Given the description of an element on the screen output the (x, y) to click on. 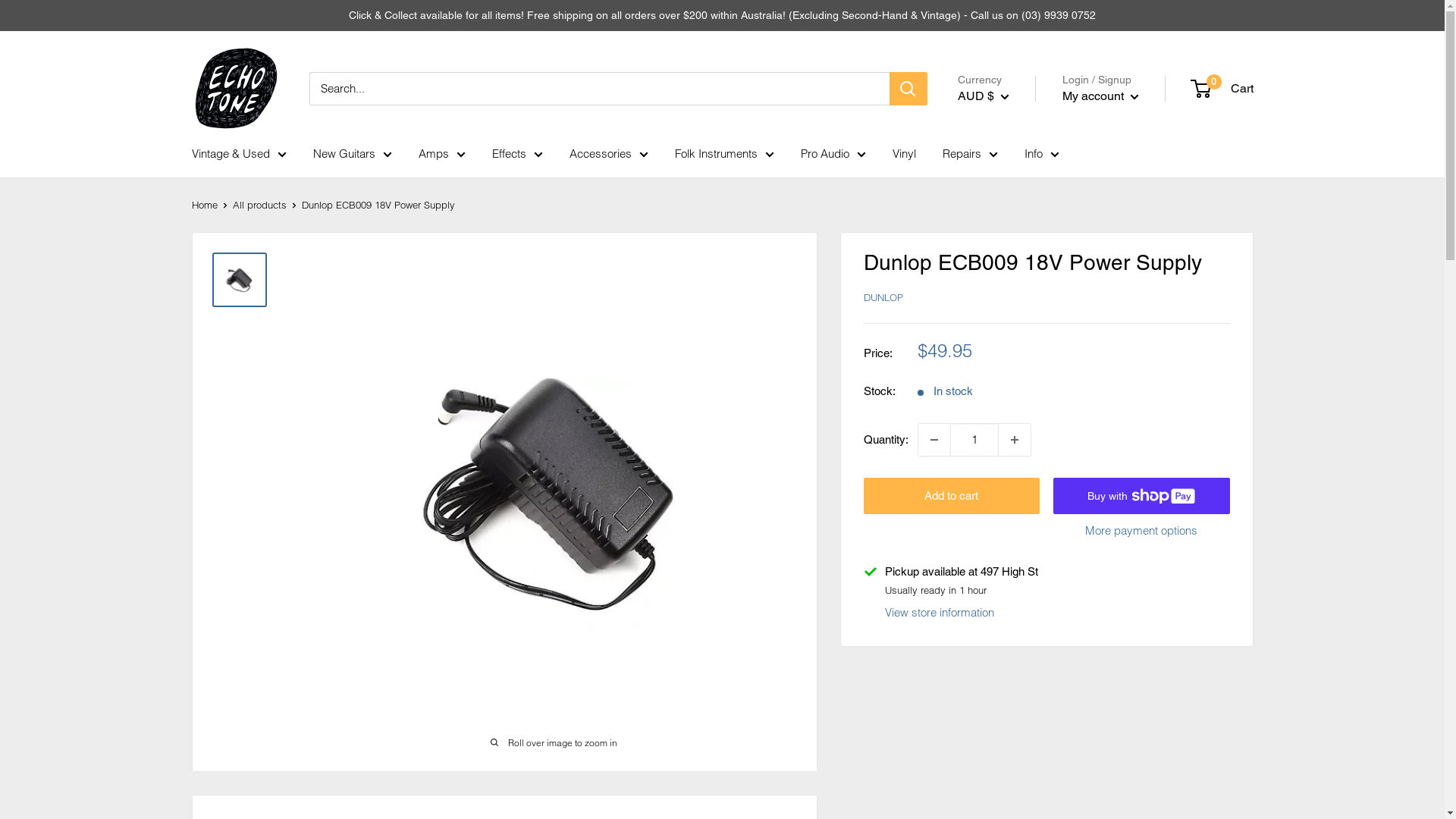
IDR Element type: text (230, 576)
INR Element type: text (230, 614)
New Guitars Element type: text (351, 153)
BSD Element type: text (230, 64)
DUNLOP Element type: text (882, 297)
Add to cart Element type: text (950, 495)
0
Cart Element type: text (1222, 88)
CHF Element type: text (230, 158)
CRC Element type: text (230, 196)
HNL Element type: text (230, 538)
CAD Element type: text (1004, 658)
BOB Element type: text (1004, 570)
EGP Element type: text (230, 330)
BND Element type: text (1004, 548)
KYD Element type: text (230, 786)
FKP Element type: text (230, 406)
CZK Element type: text (1004, 789)
Decrease quantity by 1 Element type: hover (933, 439)
KGS Element type: text (230, 710)
BDT Element type: text (1004, 482)
KMF Element type: text (230, 748)
AUD $ Element type: text (982, 95)
CDF Element type: text (230, 139)
Pro Audio Element type: text (833, 153)
More payment options Element type: text (1141, 530)
BZD Element type: text (230, 101)
ANG Element type: text (1004, 351)
Folk Instruments Element type: text (724, 153)
BSD Element type: text (1004, 592)
EUR Element type: text (230, 368)
GMD Element type: text (230, 444)
DJF Element type: text (230, 254)
BGN Element type: text (1004, 504)
BZD Element type: text (1004, 636)
CVE Element type: text (230, 216)
Accessories Element type: text (607, 153)
BND Element type: text (230, 26)
AED Element type: text (1004, 264)
CAD Element type: text (230, 120)
BWP Element type: text (1004, 614)
BOB Element type: text (230, 45)
FJD Element type: text (230, 387)
Vinyl Element type: text (903, 153)
ALL Element type: text (1004, 307)
BAM Element type: text (1004, 438)
Effects Element type: text (516, 153)
GNF Element type: text (230, 462)
AUD Element type: text (1004, 373)
Repairs Element type: text (969, 153)
DOP Element type: text (230, 292)
GYD Element type: text (230, 500)
HKD Element type: text (230, 519)
Info Element type: text (1040, 153)
AMD Element type: text (1004, 329)
AZN Element type: text (1004, 417)
GTQ Element type: text (230, 481)
KZT Element type: text (230, 804)
Home Element type: text (203, 204)
CRC Element type: text (1004, 745)
BWP Element type: text (230, 83)
CHF Element type: text (1004, 702)
All products Element type: text (258, 204)
ILS Element type: text (230, 595)
JPY Element type: text (230, 672)
AWG Element type: text (1004, 395)
CNY Element type: text (230, 177)
BBD Element type: text (1004, 460)
ETB Element type: text (230, 349)
CZK Element type: text (230, 235)
GBP Element type: text (230, 425)
DKK Element type: text (230, 273)
HUF Element type: text (230, 557)
View store information Element type: text (938, 612)
Vintage & Used Element type: text (238, 153)
CDF Element type: text (1004, 680)
AFN Element type: text (1004, 286)
Echo Tone Element type: text (234, 88)
My account Element type: text (1099, 95)
ISK Element type: text (230, 633)
DZD Element type: text (230, 311)
CNY Element type: text (1004, 723)
CVE Element type: text (1004, 767)
BIF Element type: text (1004, 526)
KES Element type: text (230, 691)
Amps Element type: text (441, 153)
JMD Element type: text (230, 653)
KRW Element type: text (230, 767)
KHR Element type: text (230, 729)
Increase quantity by 1 Element type: hover (1013, 439)
